Given the description of an element on the screen output the (x, y) to click on. 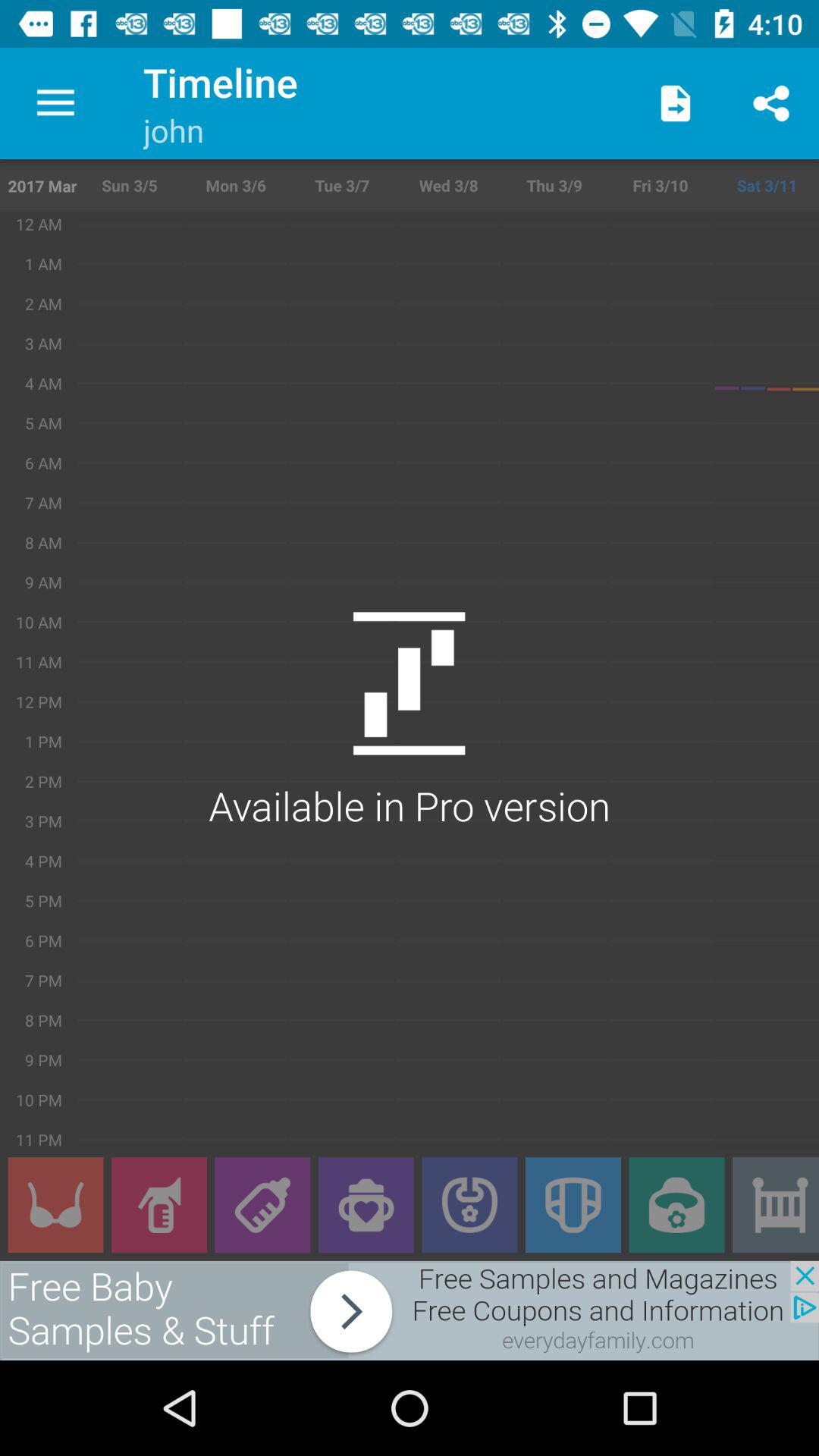
go to bed menu (775, 1204)
